Given the description of an element on the screen output the (x, y) to click on. 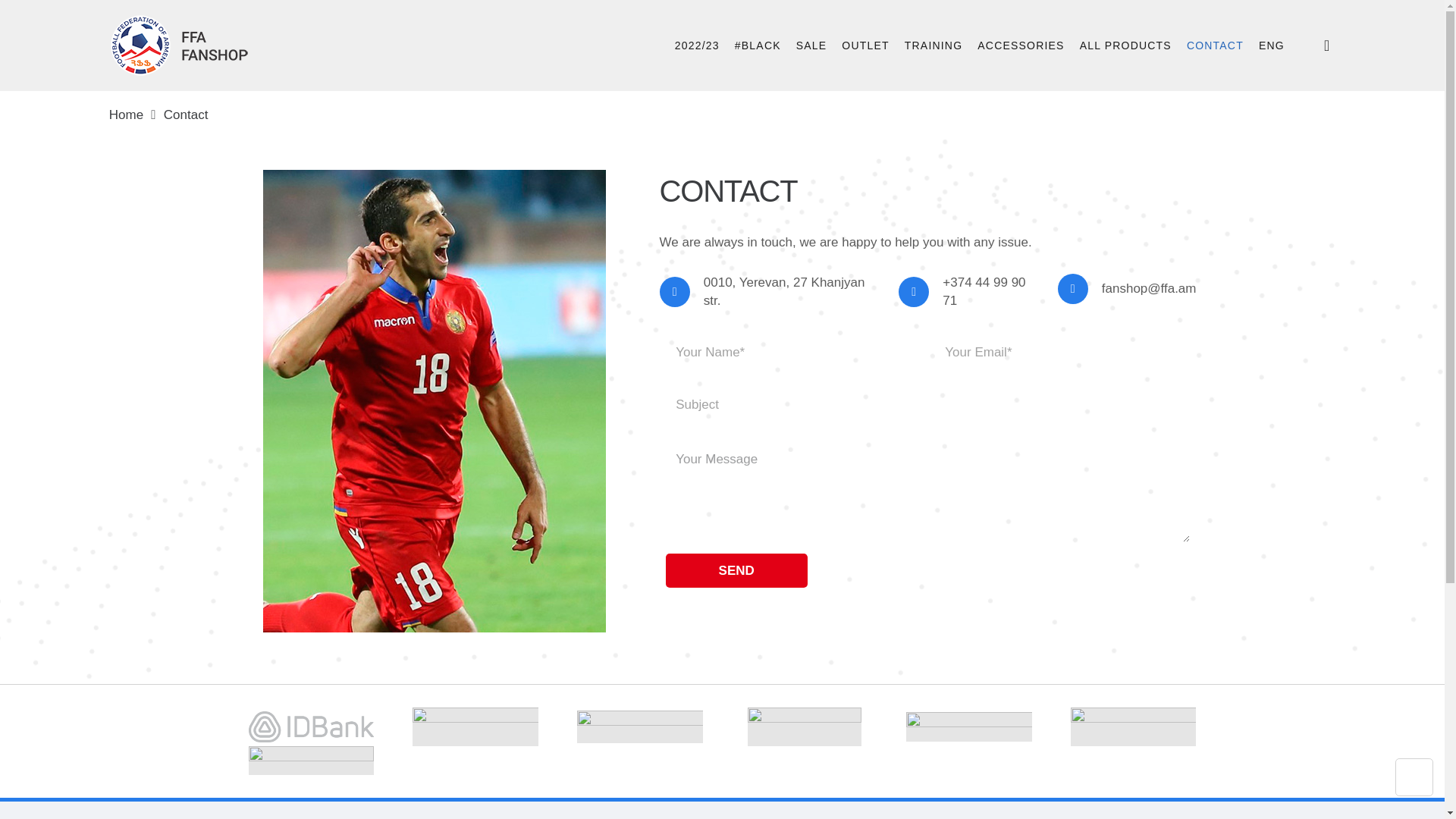
Send (736, 570)
OUTLET (865, 45)
Back to top (1413, 777)
SALE (811, 45)
ENG (1271, 45)
ACCESSORIES (1020, 45)
TRAINING (933, 45)
